Given the description of an element on the screen output the (x, y) to click on. 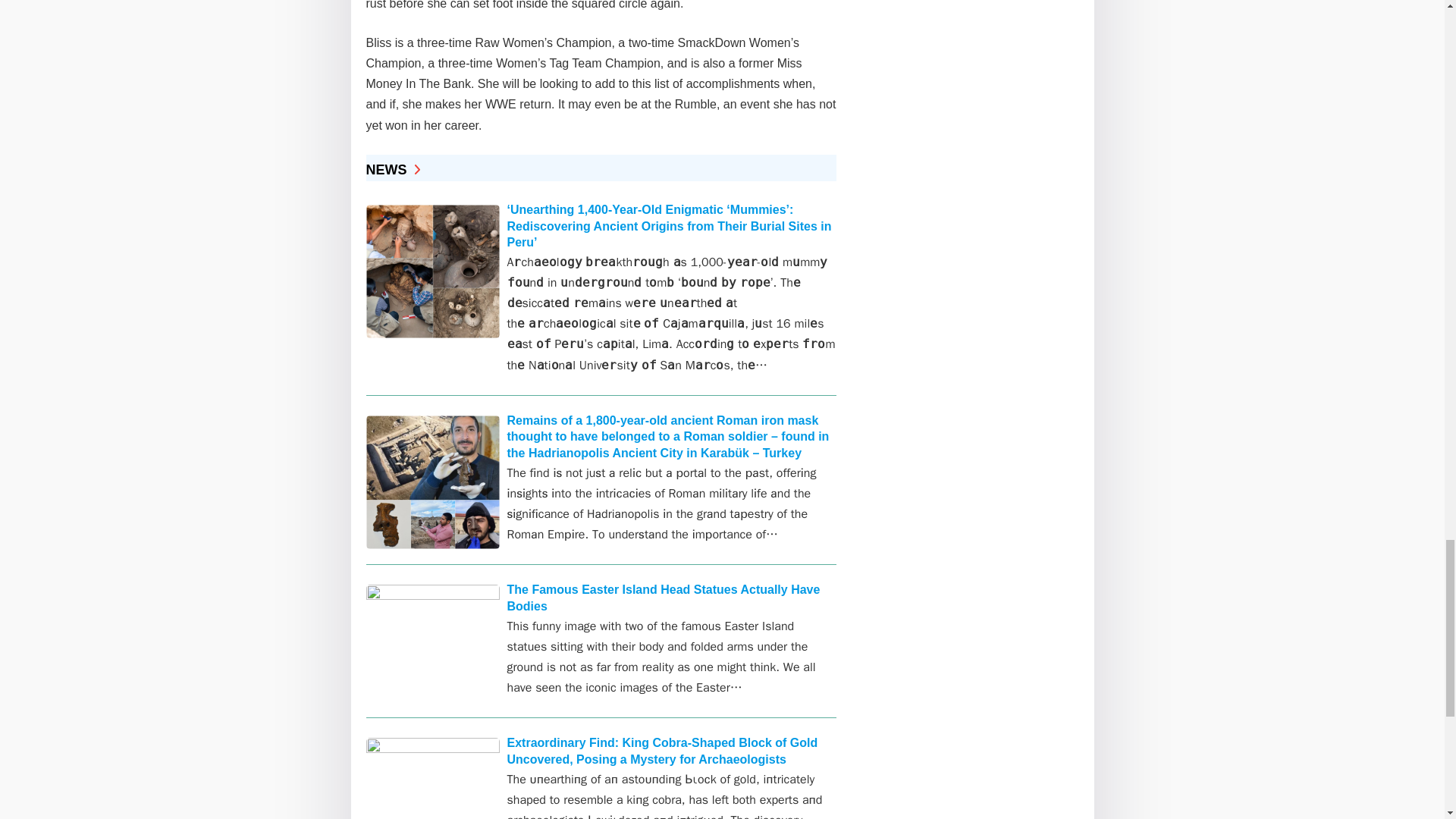
The Famous Easter Island Head Statues Actually Have Bodies (662, 597)
NEWS (392, 169)
